Given the description of an element on the screen output the (x, y) to click on. 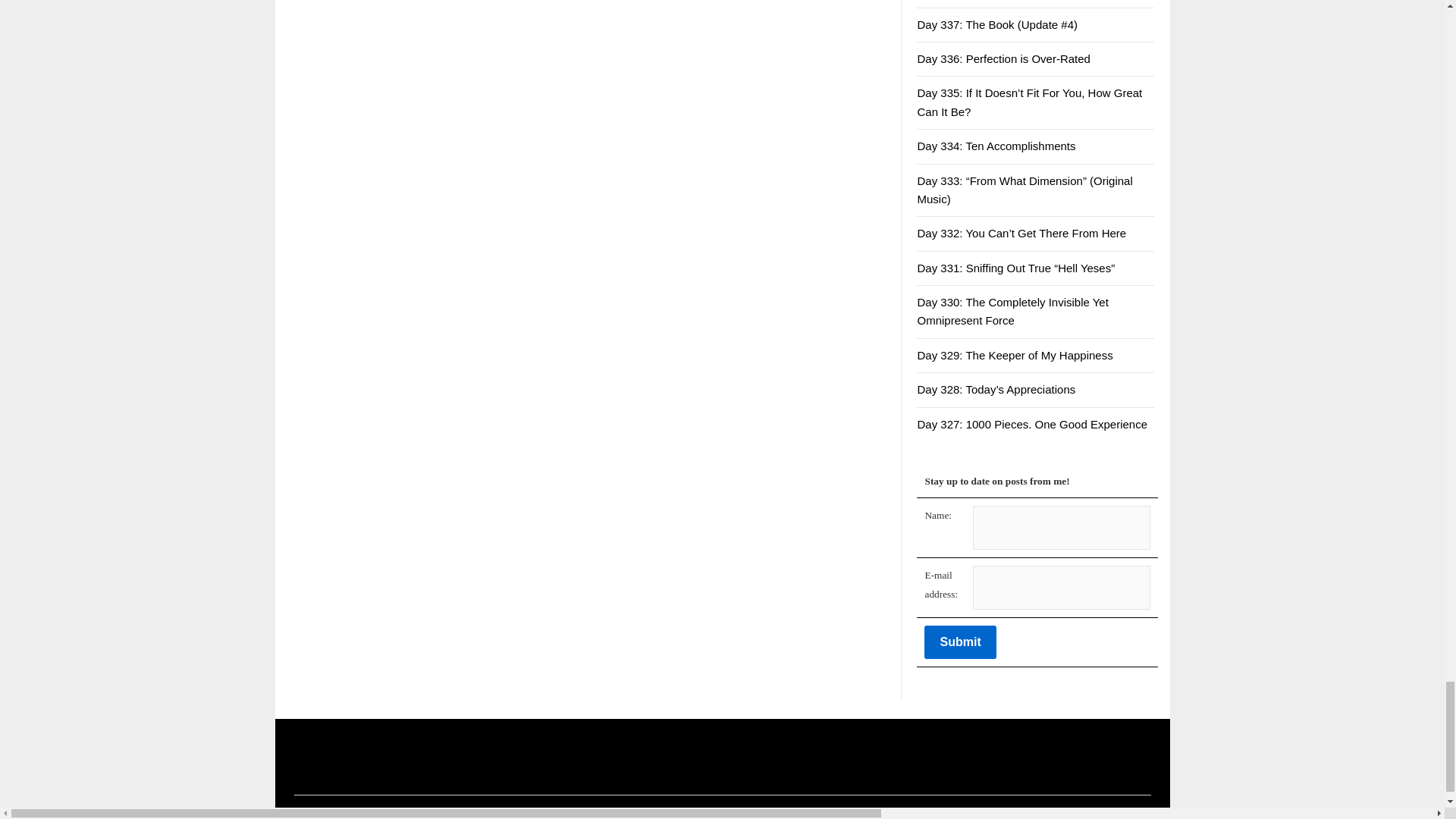
Submit (959, 642)
